Given the description of an element on the screen output the (x, y) to click on. 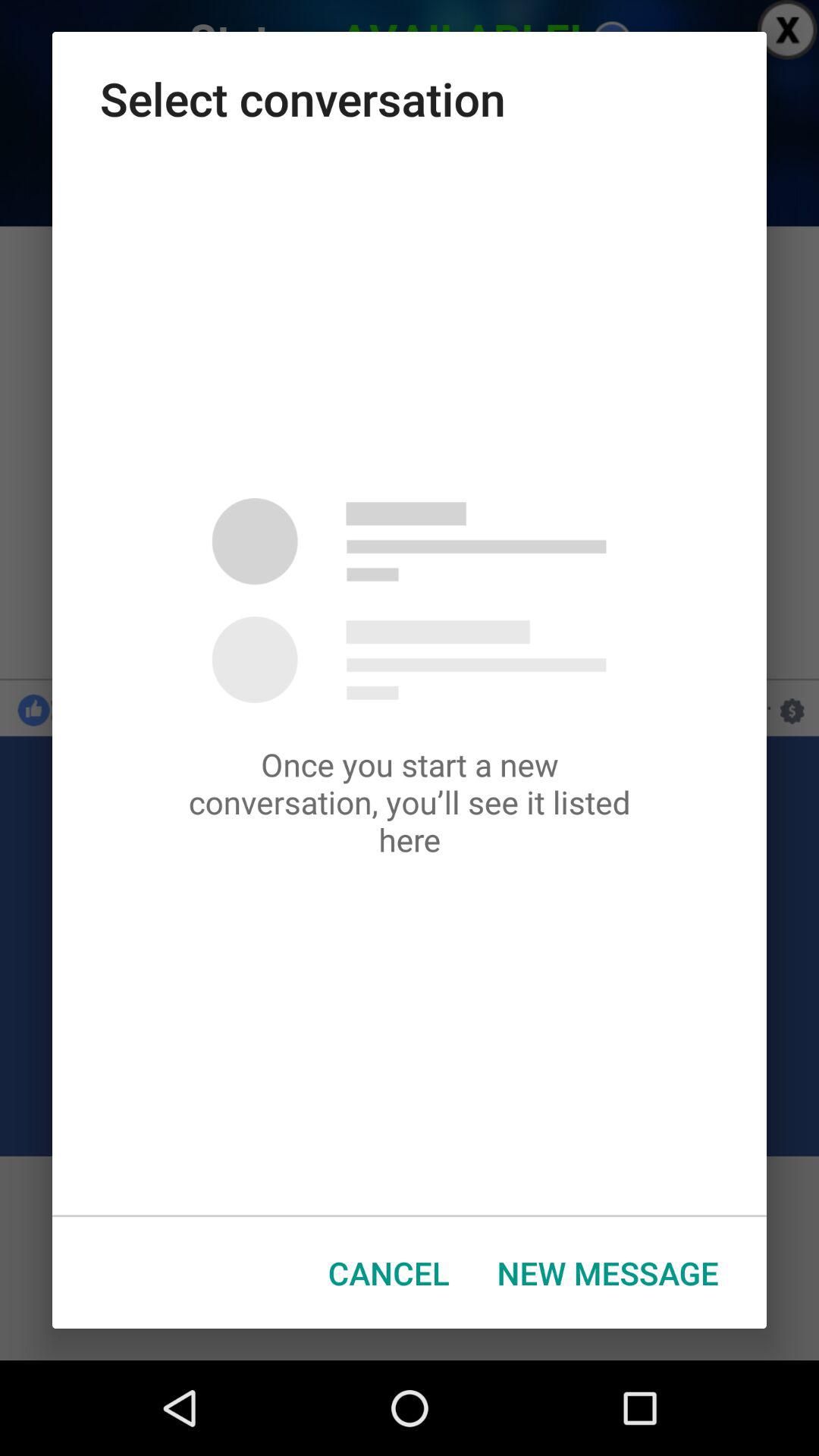
choose item to the right of cancel item (607, 1272)
